Given the description of an element on the screen output the (x, y) to click on. 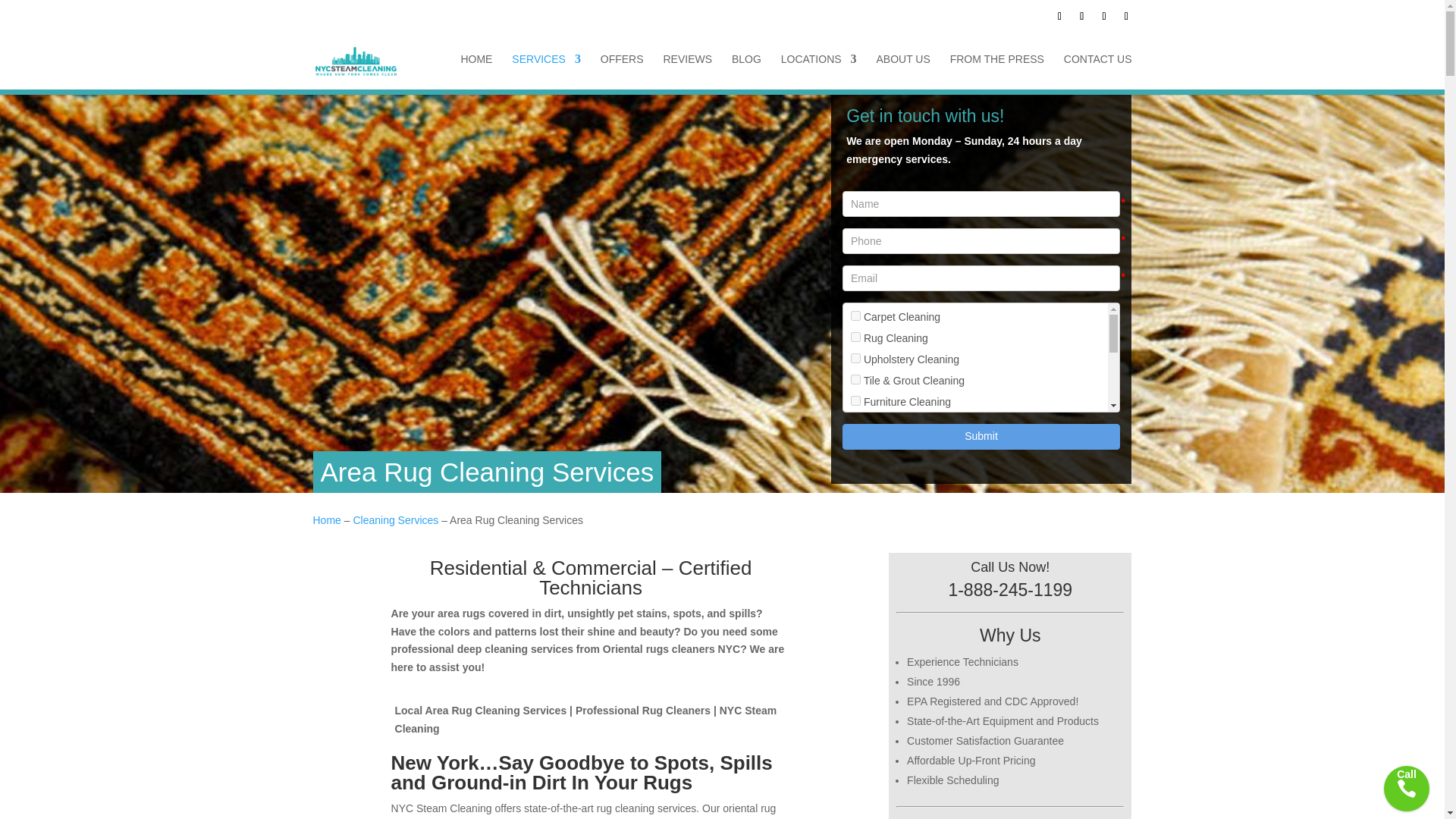
HOME (476, 71)
form (981, 327)
SERVICES (546, 71)
